Given the description of an element on the screen output the (x, y) to click on. 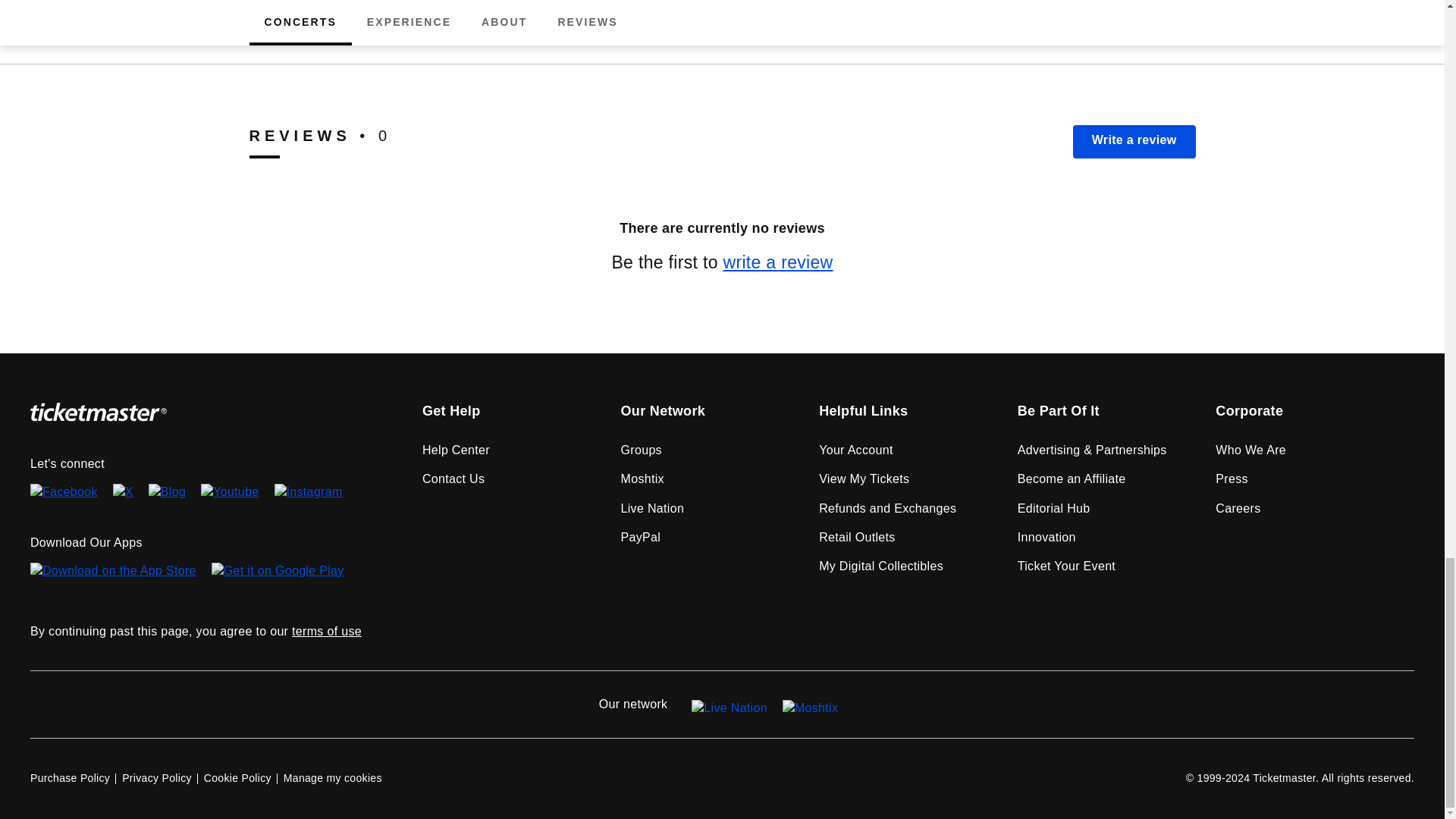
X (123, 493)
Instagram (308, 493)
Download on the App Store (113, 576)
Get it on Google Play (277, 576)
Facebook (63, 493)
Blog (167, 493)
Moshtix (810, 705)
Youtube (229, 493)
Live Nation (729, 705)
